Given the description of an element on the screen output the (x, y) to click on. 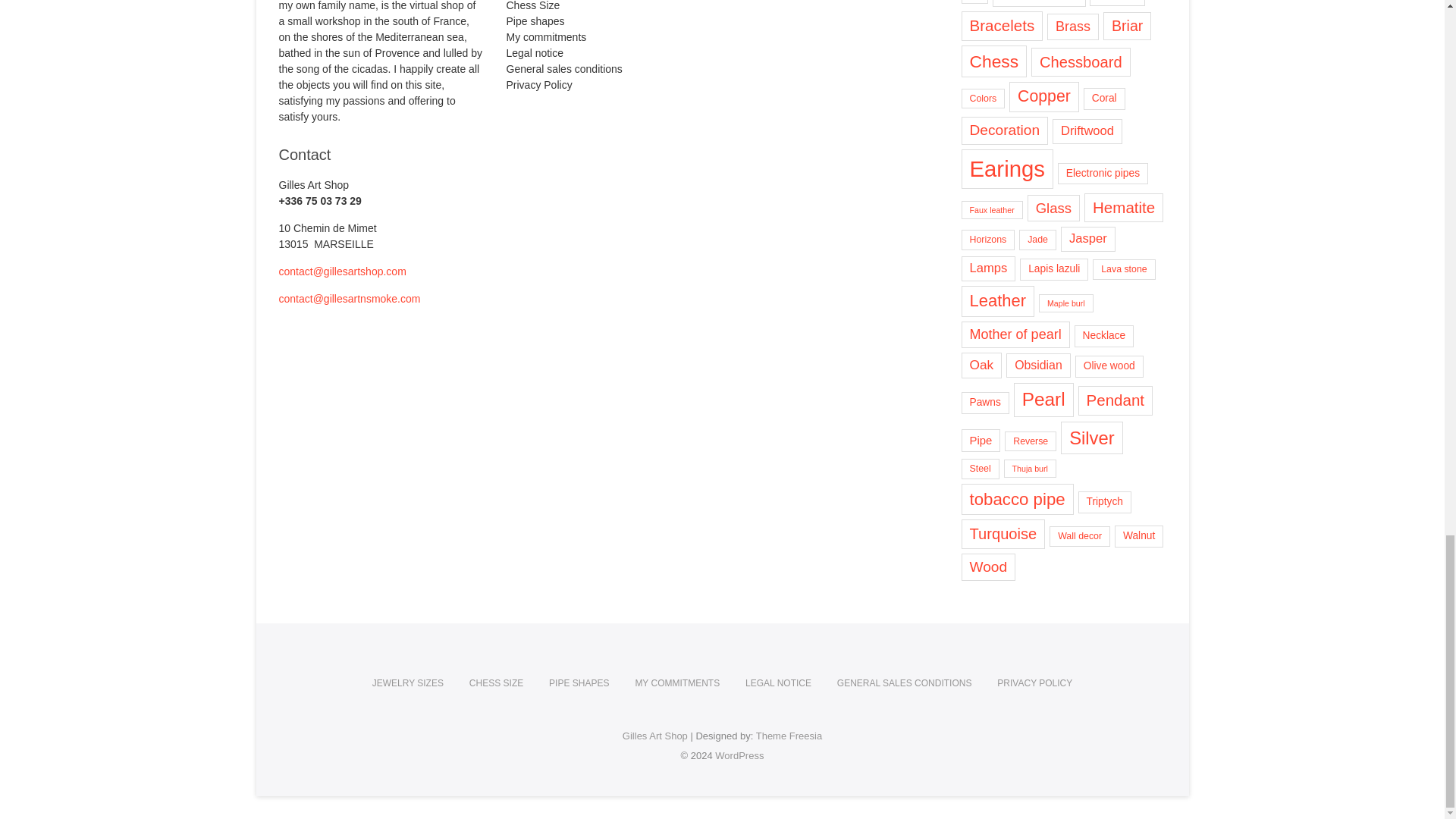
Theme Freesia (788, 736)
Gilles Art Shop (655, 736)
WordPress (738, 755)
